Given the description of an element on the screen output the (x, y) to click on. 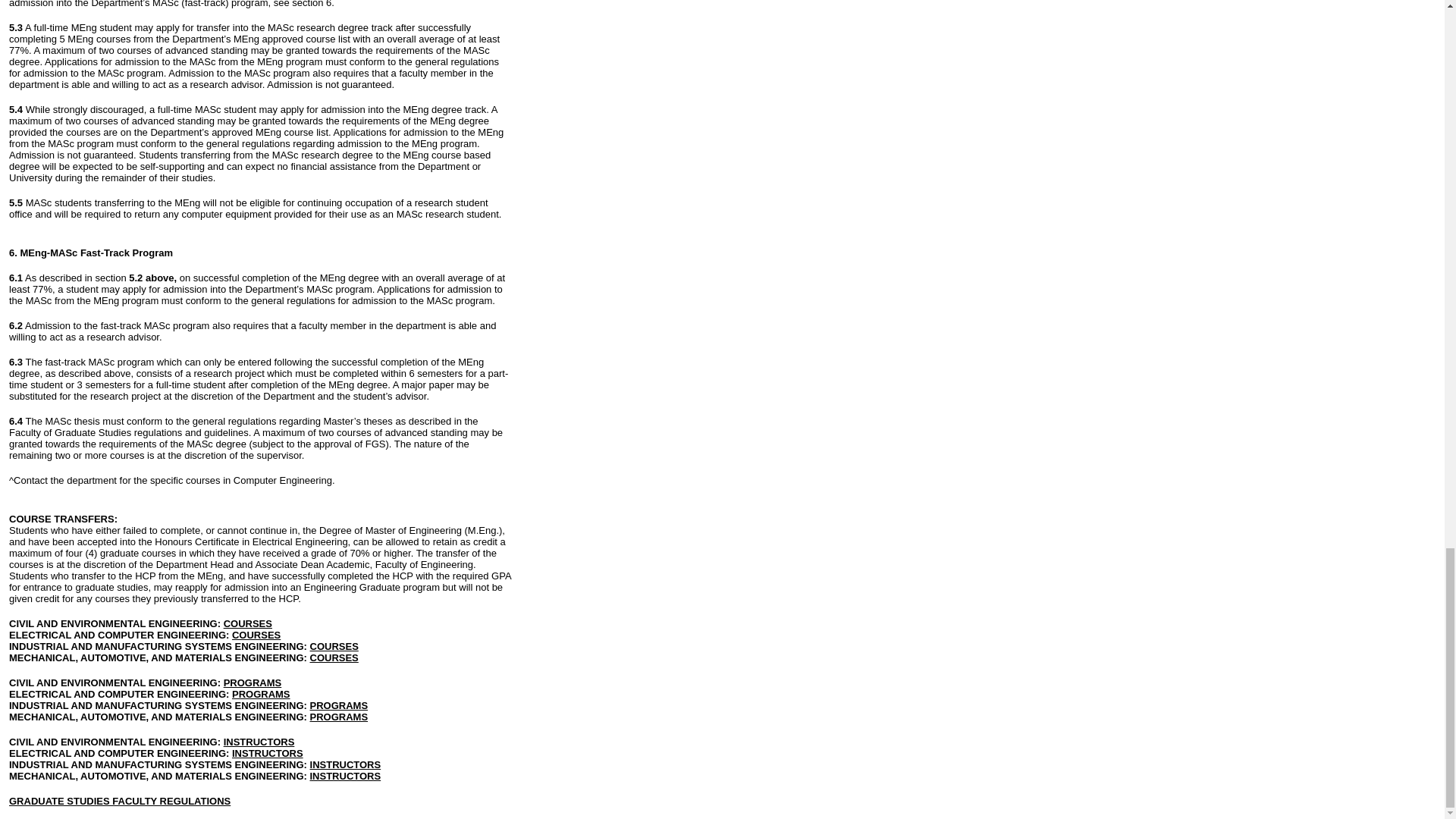
COURSES (334, 645)
INSTRUCTORS (345, 763)
INSTRUCTORS (266, 752)
COURSES (248, 622)
INSTRUCTORS (259, 740)
PROGRAMS (253, 681)
INSTRUCTORS (344, 775)
PROGRAMS (260, 693)
COURSES (333, 656)
COURSES (256, 634)
PROGRAMS (338, 716)
PROGRAMS (339, 704)
GRADUATE STUDIES FACULTY REGULATIONS (119, 799)
